Given the description of an element on the screen output the (x, y) to click on. 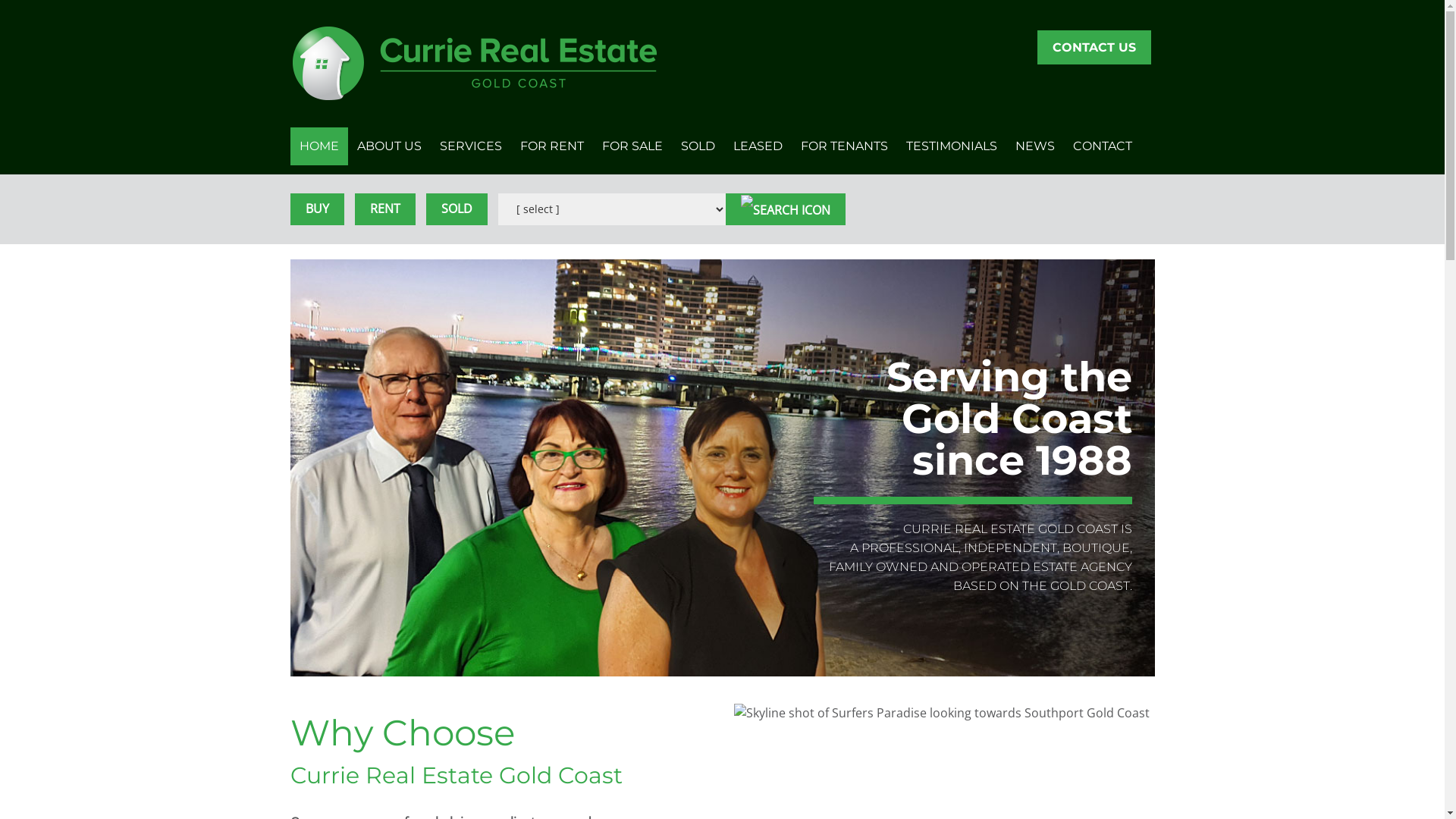
SOLD Element type: text (697, 146)
NEWS Element type: text (1034, 146)
BUY Element type: text (316, 209)
HOME Element type: text (318, 146)
FOR RENT Element type: text (552, 146)
TESTIMONIALS Element type: text (950, 146)
LEASED Element type: text (756, 146)
CONTACT Element type: text (1101, 146)
Currie Real Estate Gold Coast  Logo Element type: hover (474, 63)
FOR SALE Element type: text (632, 146)
CONTACT US Element type: text (1094, 47)
ABOUT US Element type: text (388, 146)
RENT Element type: text (384, 209)
SOLD Element type: text (456, 209)
FOR TENANTS Element type: text (844, 146)
SERVICES Element type: text (470, 146)
